Given the description of an element on the screen output the (x, y) to click on. 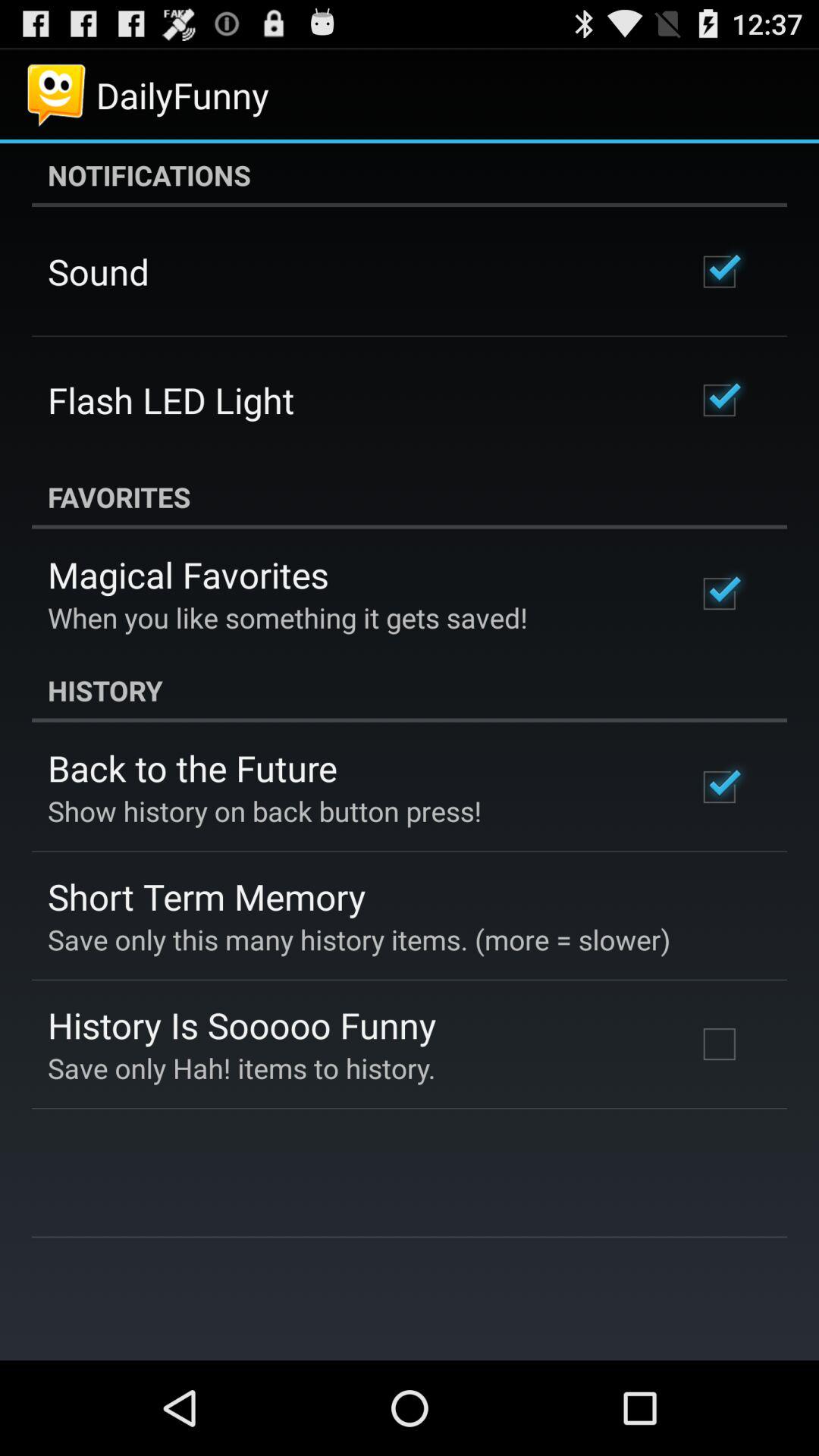
choose the icon above the favorites item (170, 399)
